Given the description of an element on the screen output the (x, y) to click on. 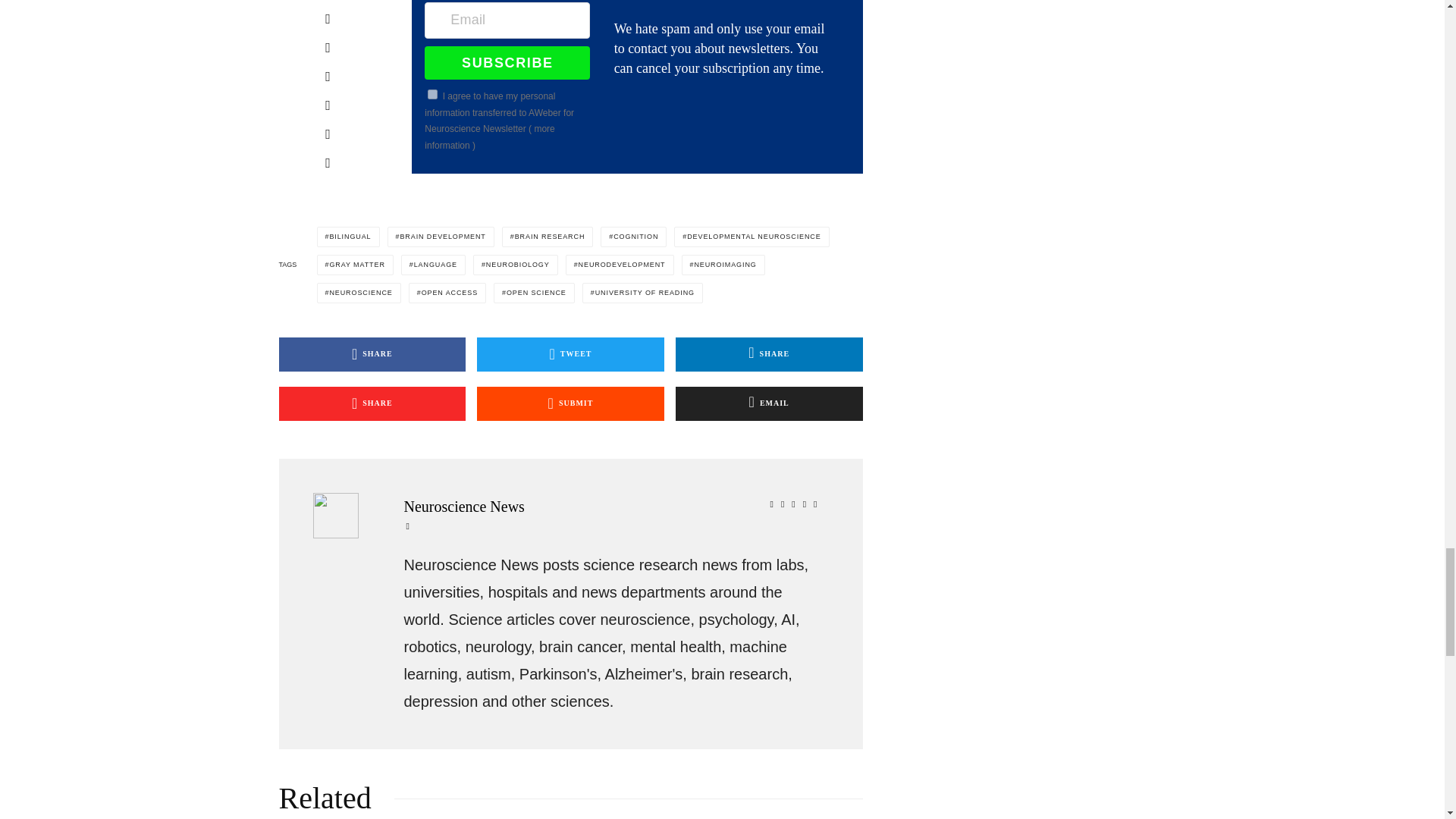
BRAIN RESEARCH (548, 236)
more information (489, 136)
DEVELOPMENTAL NEUROSCIENCE (751, 236)
SHARE (372, 403)
GRAY MATTER (355, 264)
NEURODEVELOPMENT (620, 264)
on (433, 94)
BILINGUAL (348, 236)
OPEN ACCESS (447, 291)
SHARE (372, 353)
OPEN SCIENCE (534, 291)
TWEET (570, 353)
SUBSCRIBE (507, 62)
COGNITION (632, 236)
SUBSCRIBE (507, 62)
